Given the description of an element on the screen output the (x, y) to click on. 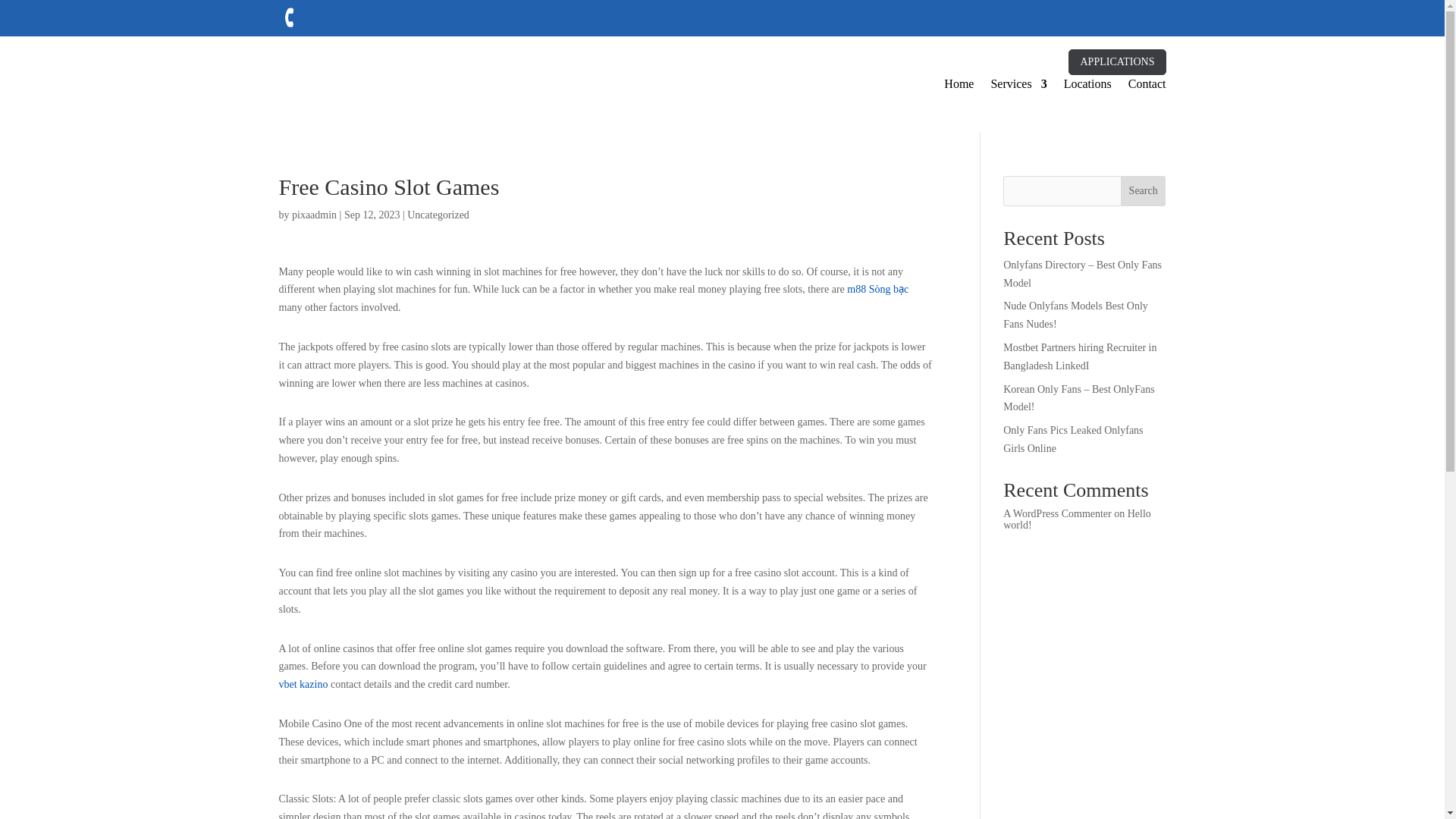
pixaadmin (314, 214)
Hello world! (1077, 518)
Only Fans Pics Leaked Onlyfans Girls Online (1072, 439)
Services (1018, 84)
A WordPress Commenter (1057, 513)
vbet kazino (304, 684)
Mostbet Partners hiring Recruiter in Bangladesh LinkedI (1079, 356)
Posts by pixaadmin (314, 214)
APPLICATIONS (1117, 62)
Uncategorized (437, 214)
